Given the description of an element on the screen output the (x, y) to click on. 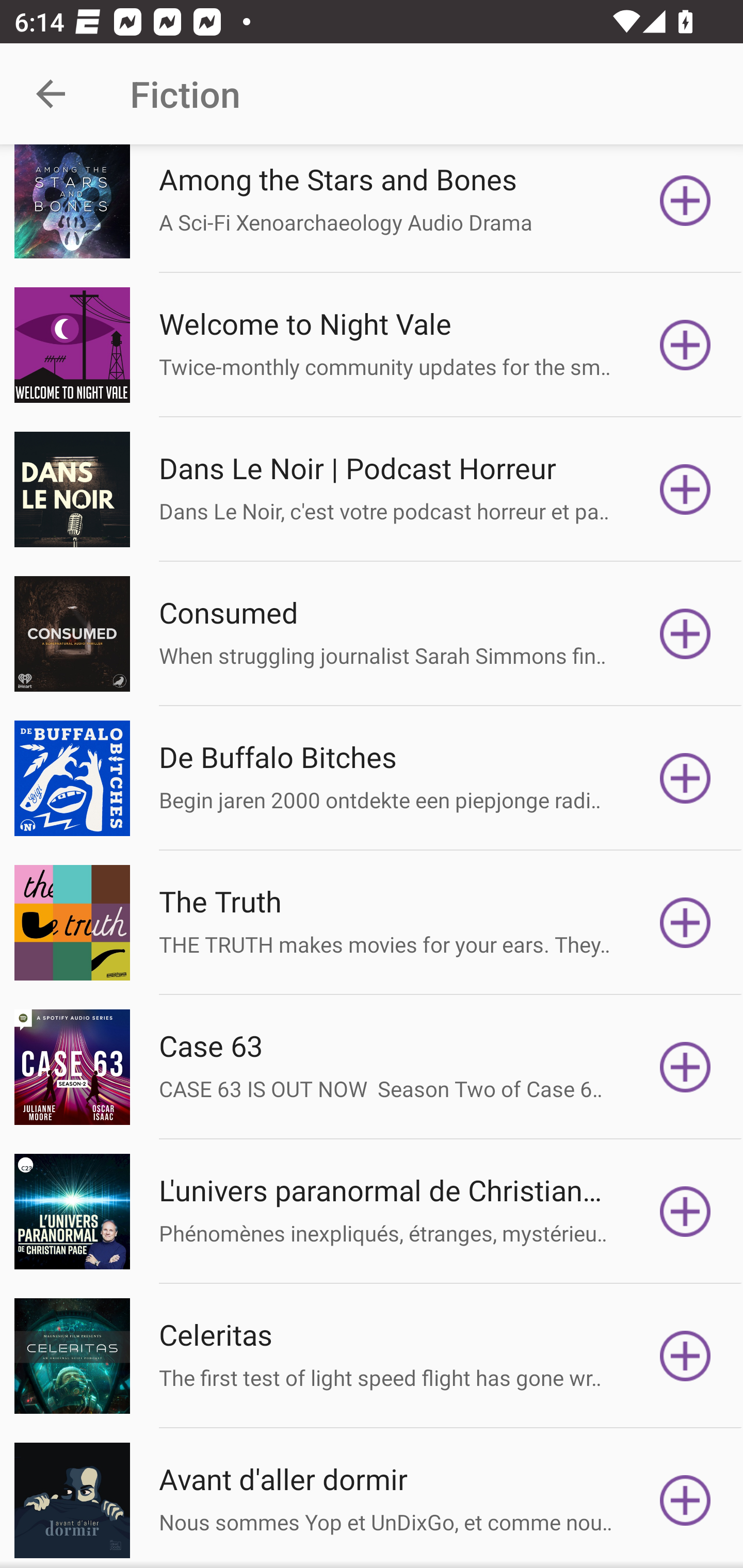
Navigate up (50, 93)
Subscribe (685, 201)
Subscribe (685, 344)
Subscribe (685, 489)
Subscribe (685, 633)
Subscribe (685, 778)
Subscribe (685, 922)
Subscribe (685, 1066)
Subscribe (685, 1212)
Subscribe (685, 1356)
Subscribe (685, 1500)
